Given the description of an element on the screen output the (x, y) to click on. 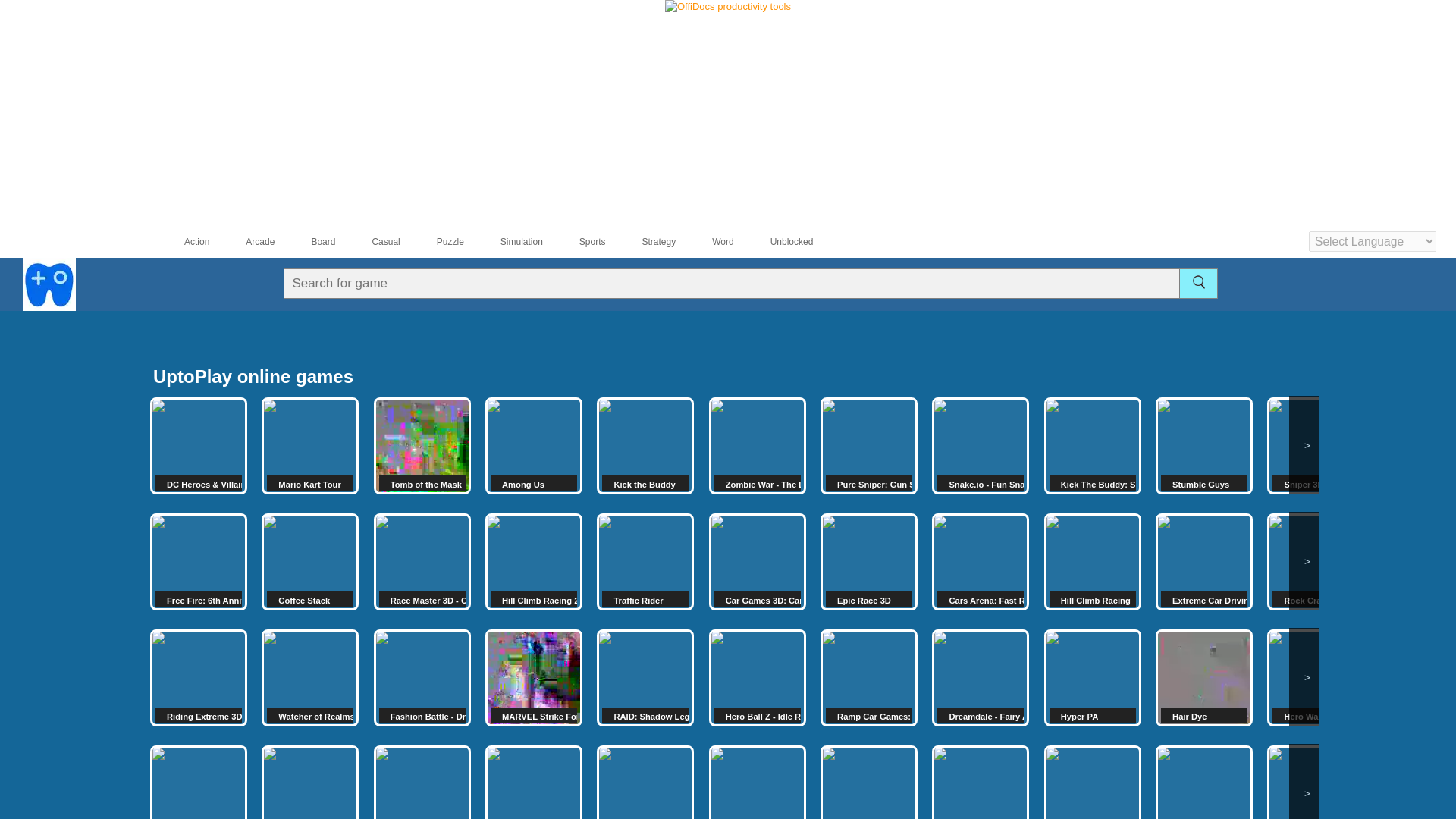
Unblocked Games Premium (778, 241)
Stumble Guys (1204, 445)
Action (183, 241)
Word games online (709, 241)
Kick the Buddy (645, 445)
Board (308, 241)
Car Games 3D: Car Racing (757, 561)
Word (709, 241)
Hill Climb Racing 2 (533, 561)
Traffic Rider (645, 561)
